Given the description of an element on the screen output the (x, y) to click on. 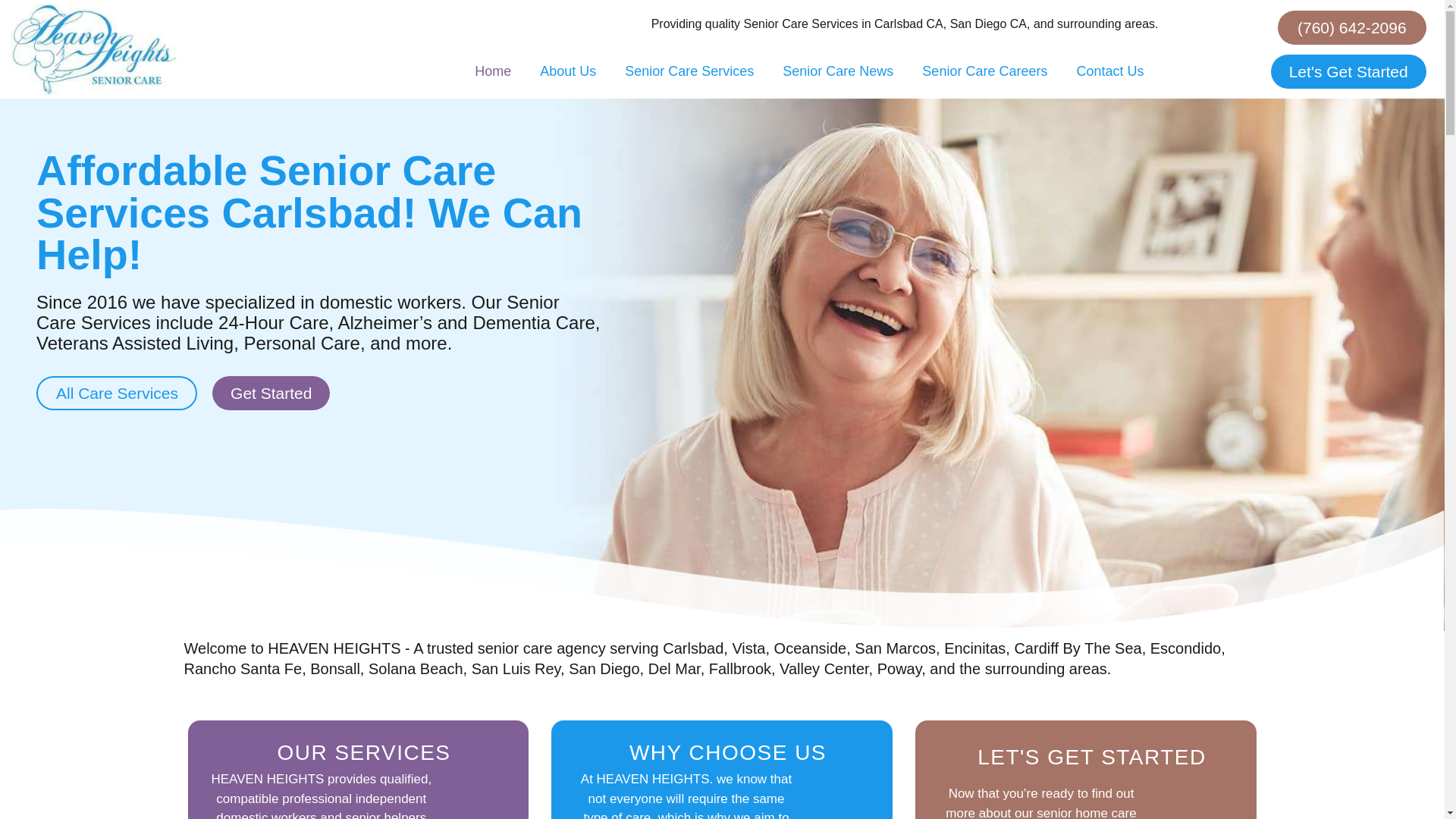
Senior Care Services (689, 70)
Senior Care Careers (984, 70)
Senior Care News (837, 70)
About Us (567, 70)
All Care Services (116, 392)
Home (492, 70)
Get Started (271, 392)
Let's Get Started (1348, 71)
Contact Us (1109, 70)
